Given the description of an element on the screen output the (x, y) to click on. 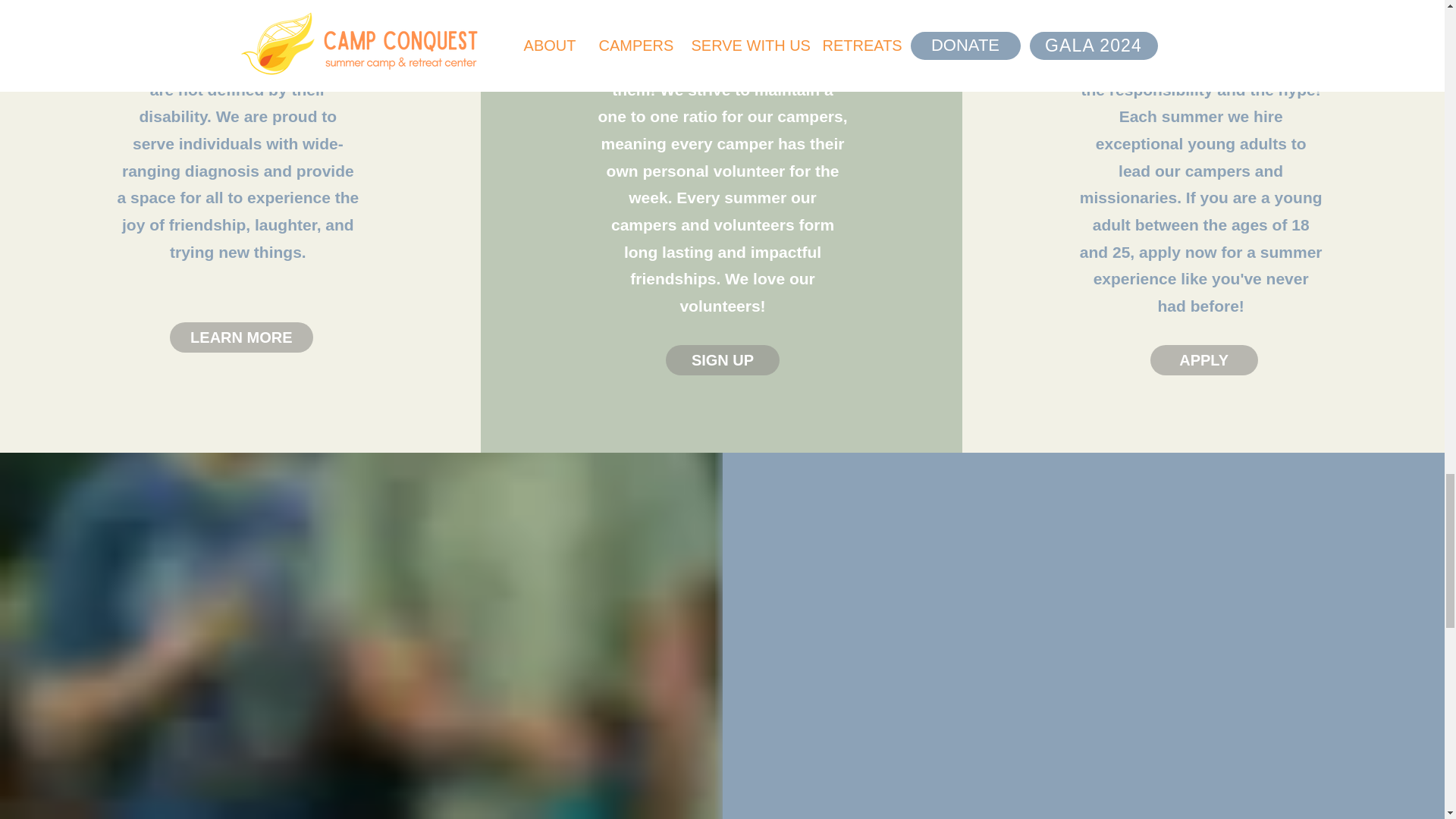
SIGN UP (721, 359)
LEARN MORE (241, 337)
APPLY (1203, 359)
